Given the description of an element on the screen output the (x, y) to click on. 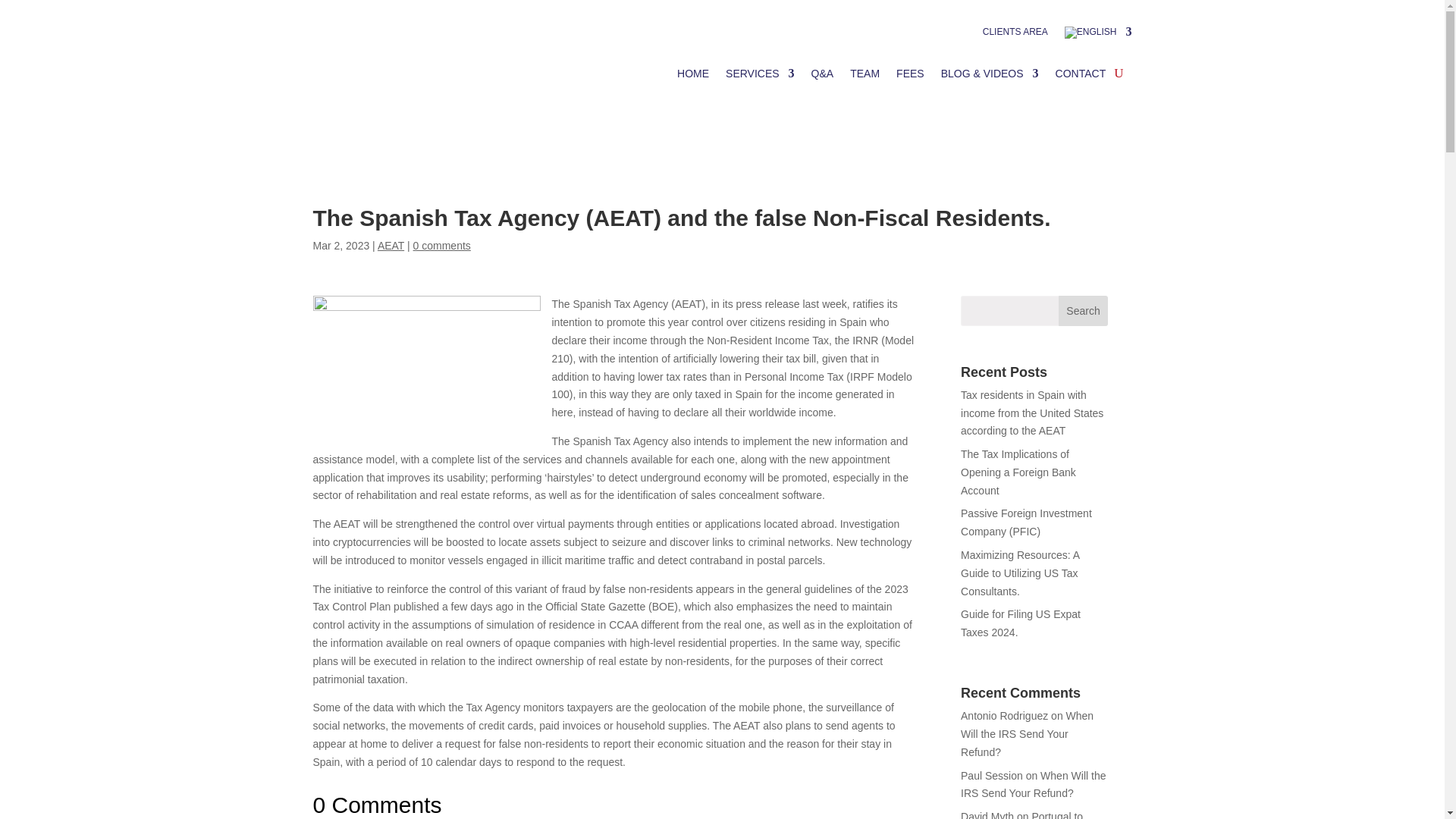
Search (1083, 310)
CLIENTS AREA (1015, 35)
SERVICES (759, 73)
